Given the description of an element on the screen output the (x, y) to click on. 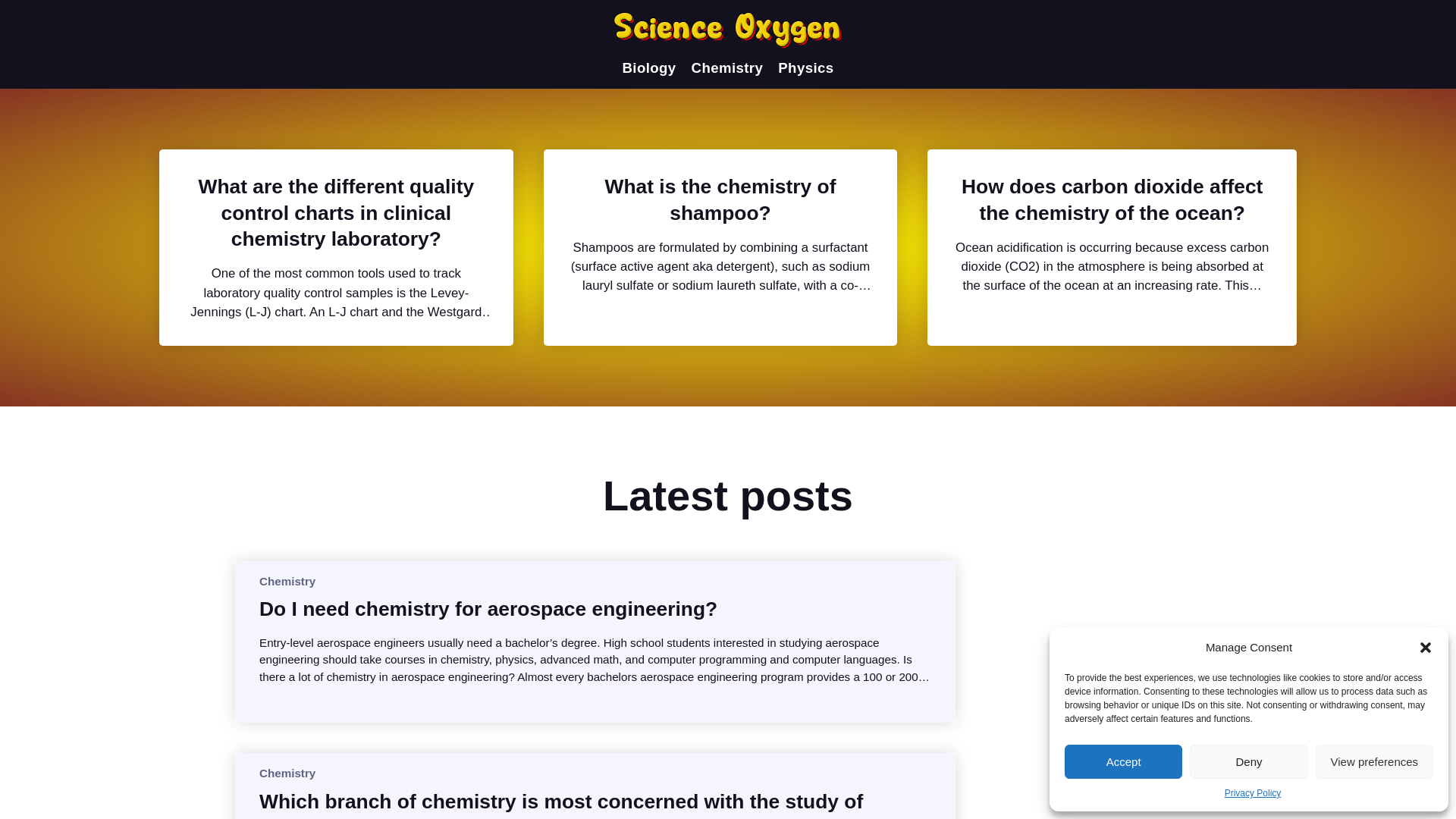
Accept (1123, 761)
Chemistry (726, 67)
Do I need chemistry for aerospace engineering? (488, 608)
Physics (804, 67)
Chemistry (287, 772)
Chemistry (287, 581)
Privacy Policy (1252, 793)
Deny (1248, 761)
What is the chemistry of shampoo? (720, 199)
Biology (648, 67)
View preferences (1374, 761)
How does carbon dioxide affect the chemistry of the ocean? (1112, 199)
